Given the description of an element on the screen output the (x, y) to click on. 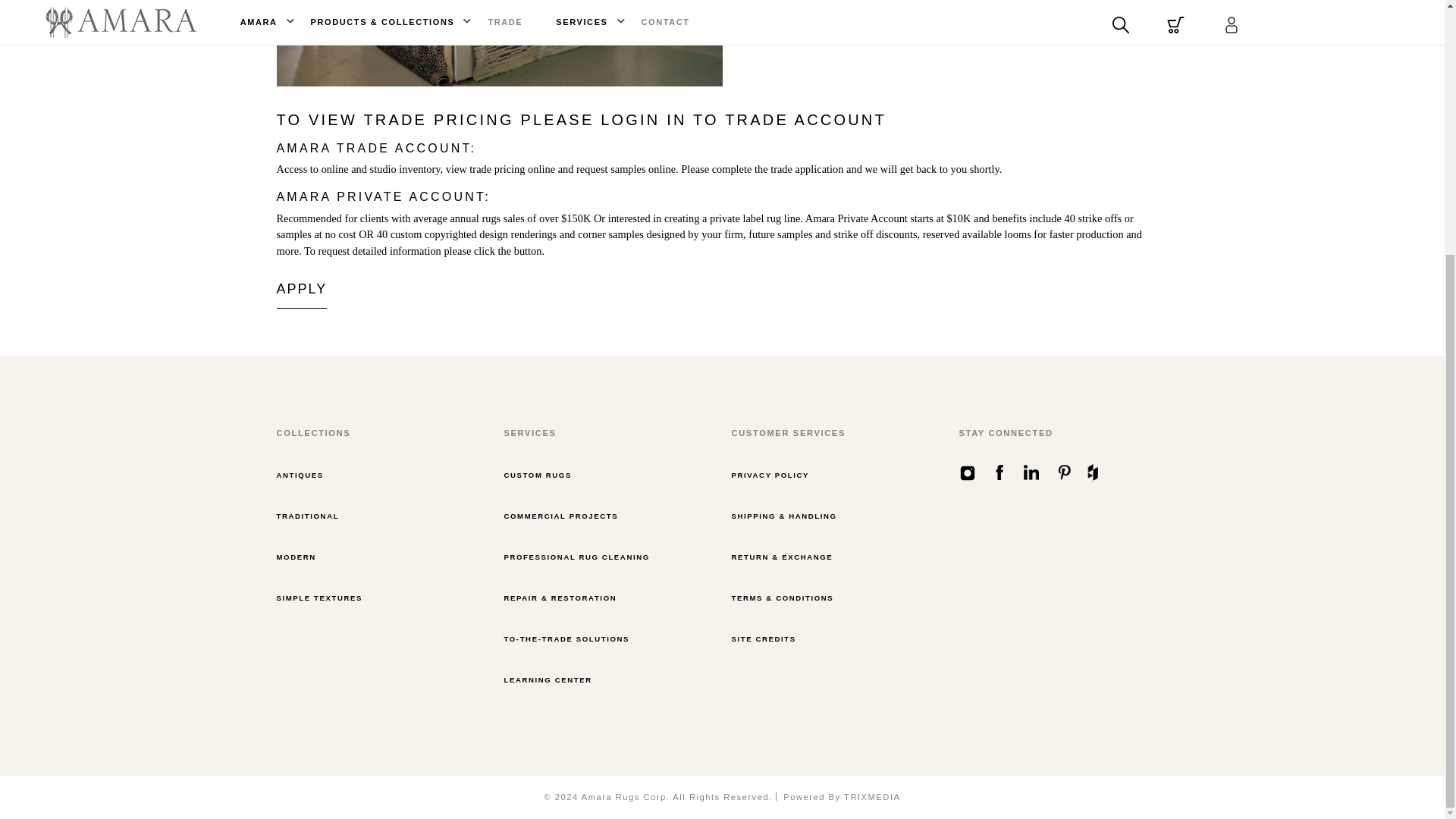
SIMPLE TEXTURES (319, 597)
silk (499, 43)
APPLY (301, 289)
ANTIQUES (299, 474)
TRADITIONAL (307, 515)
MODERN (295, 556)
